Given the description of an element on the screen output the (x, y) to click on. 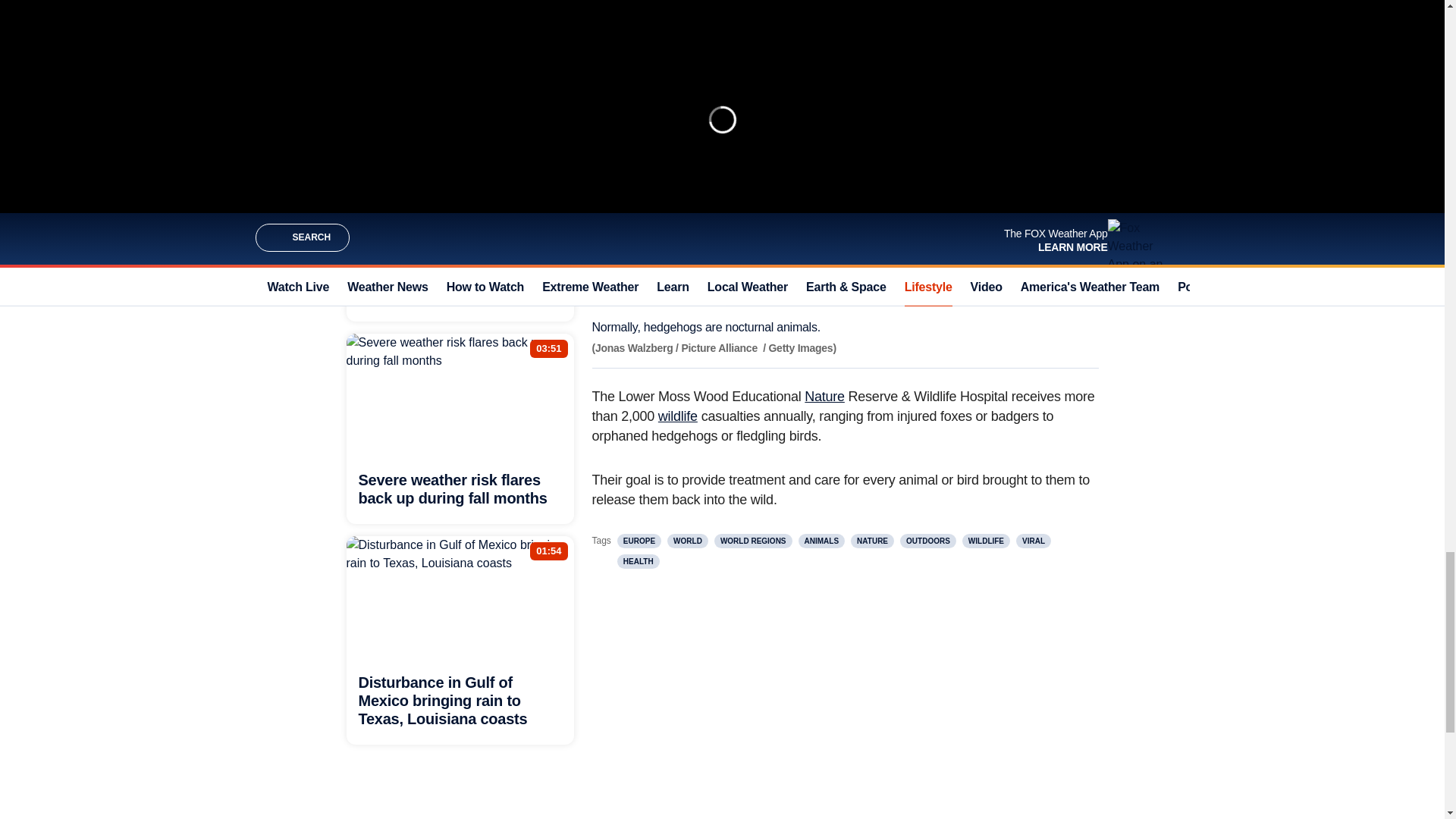
OUTDOORS (927, 540)
WORLD REGIONS (753, 540)
EUROPE (639, 540)
WORLD (686, 540)
wildlife (677, 416)
NATURE (871, 540)
Nature (824, 396)
ANIMALS (821, 540)
